Given the description of an element on the screen output the (x, y) to click on. 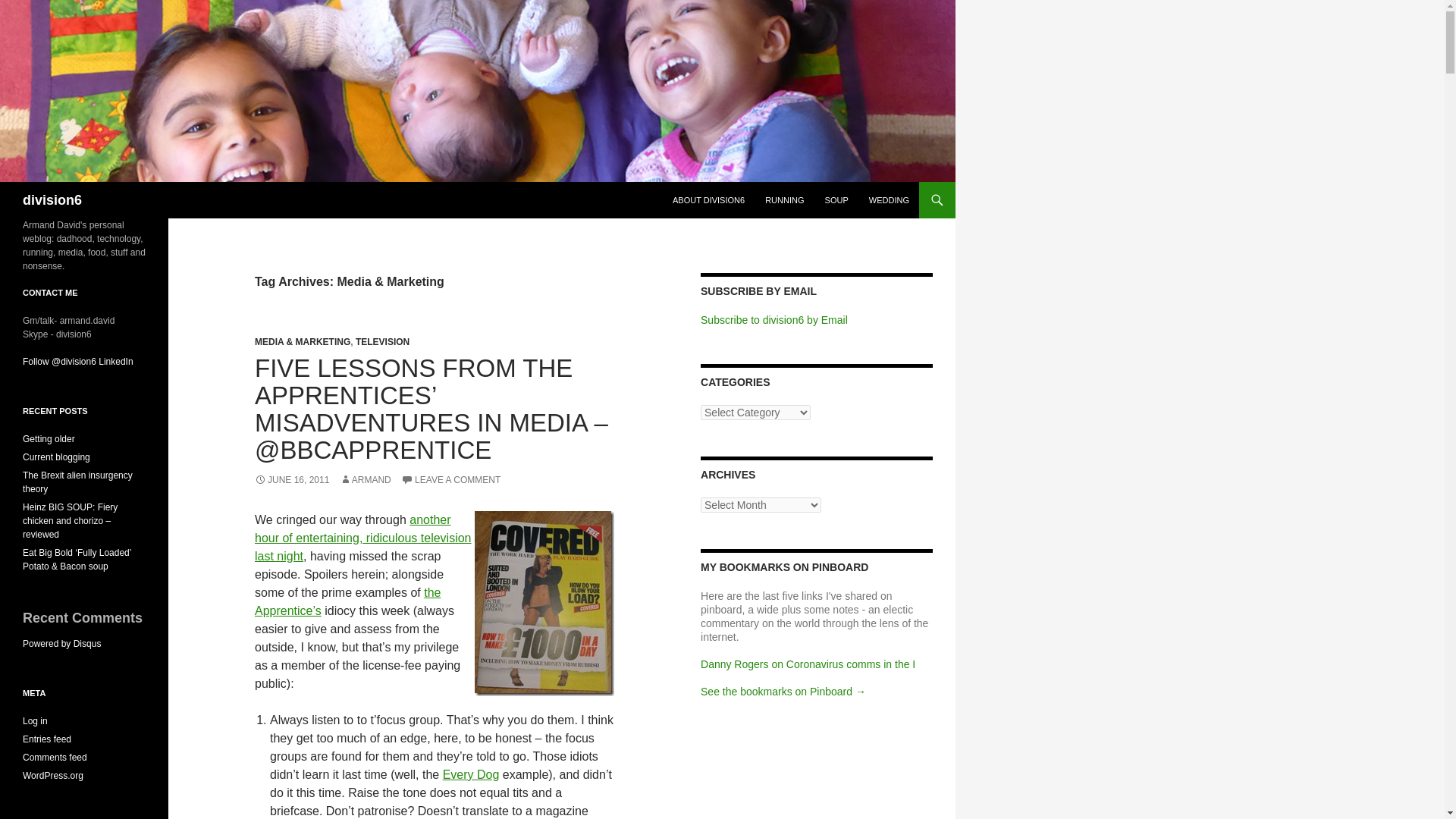
Every Dog (470, 774)
RUNNING (783, 199)
ABOUT DIVISION6 (708, 199)
TELEVISION (382, 341)
division6 (52, 199)
LEAVE A COMMENT (450, 480)
WEDDING (889, 199)
JUNE 16, 2011 (291, 480)
covered (544, 603)
SOUP (836, 199)
ARMAND (365, 480)
